Given the description of an element on the screen output the (x, y) to click on. 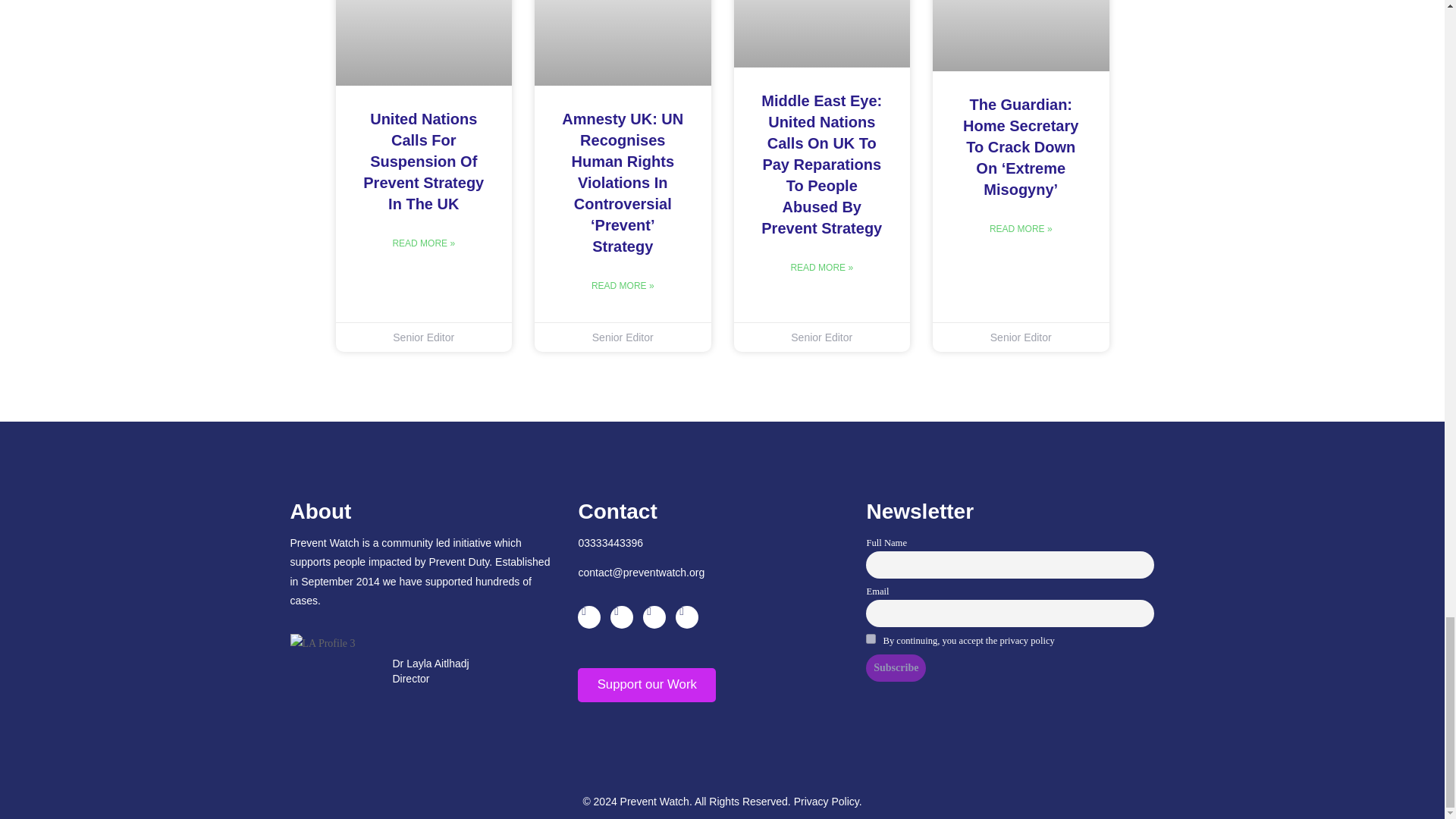
Subscribe (896, 667)
on (871, 638)
LA Profile 3 (322, 642)
